Given the description of an element on the screen output the (x, y) to click on. 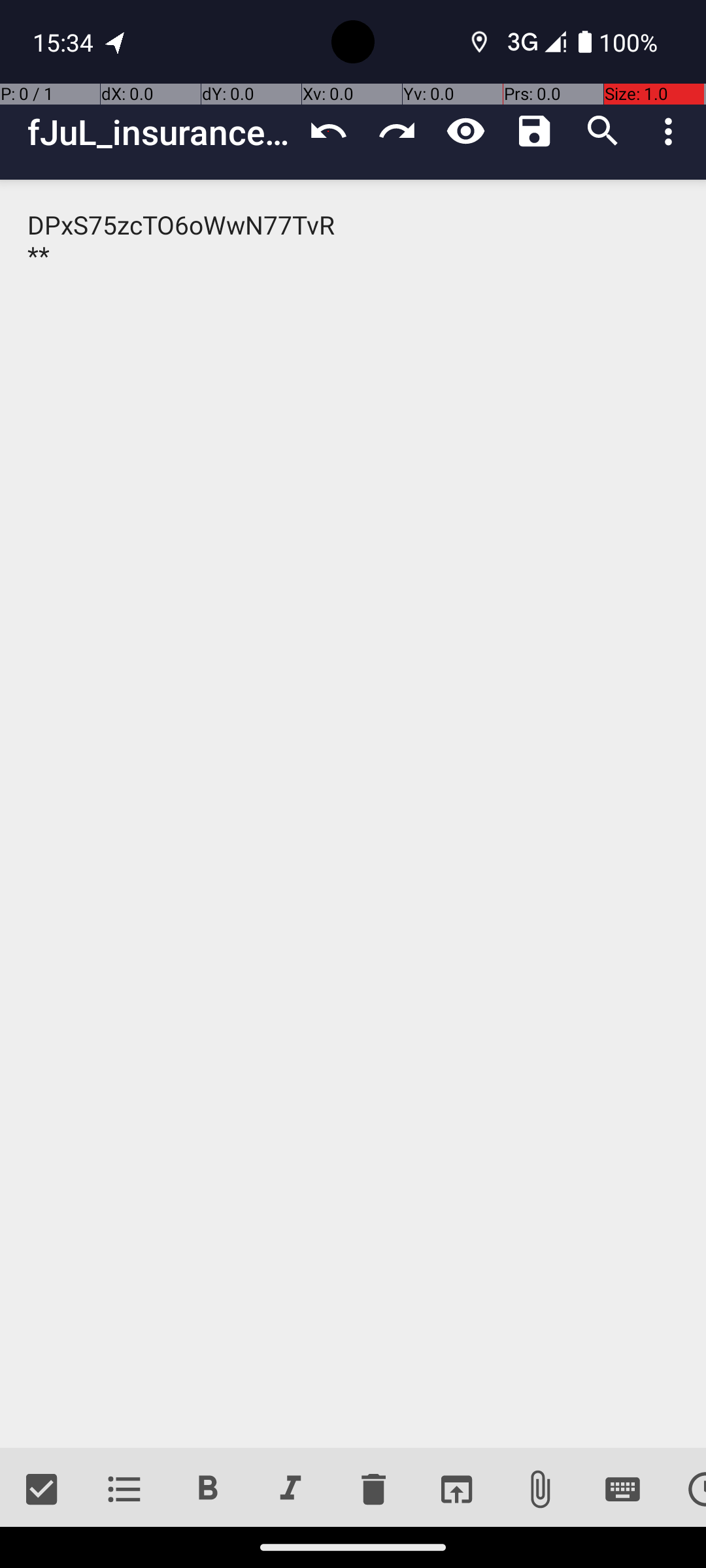
fJuL_insurance_plan_comparison Element type: android.widget.TextView (160, 131)
DPxS75zcTO6oWwN77TvR
**** Element type: android.widget.EditText (353, 813)
